Given the description of an element on the screen output the (x, y) to click on. 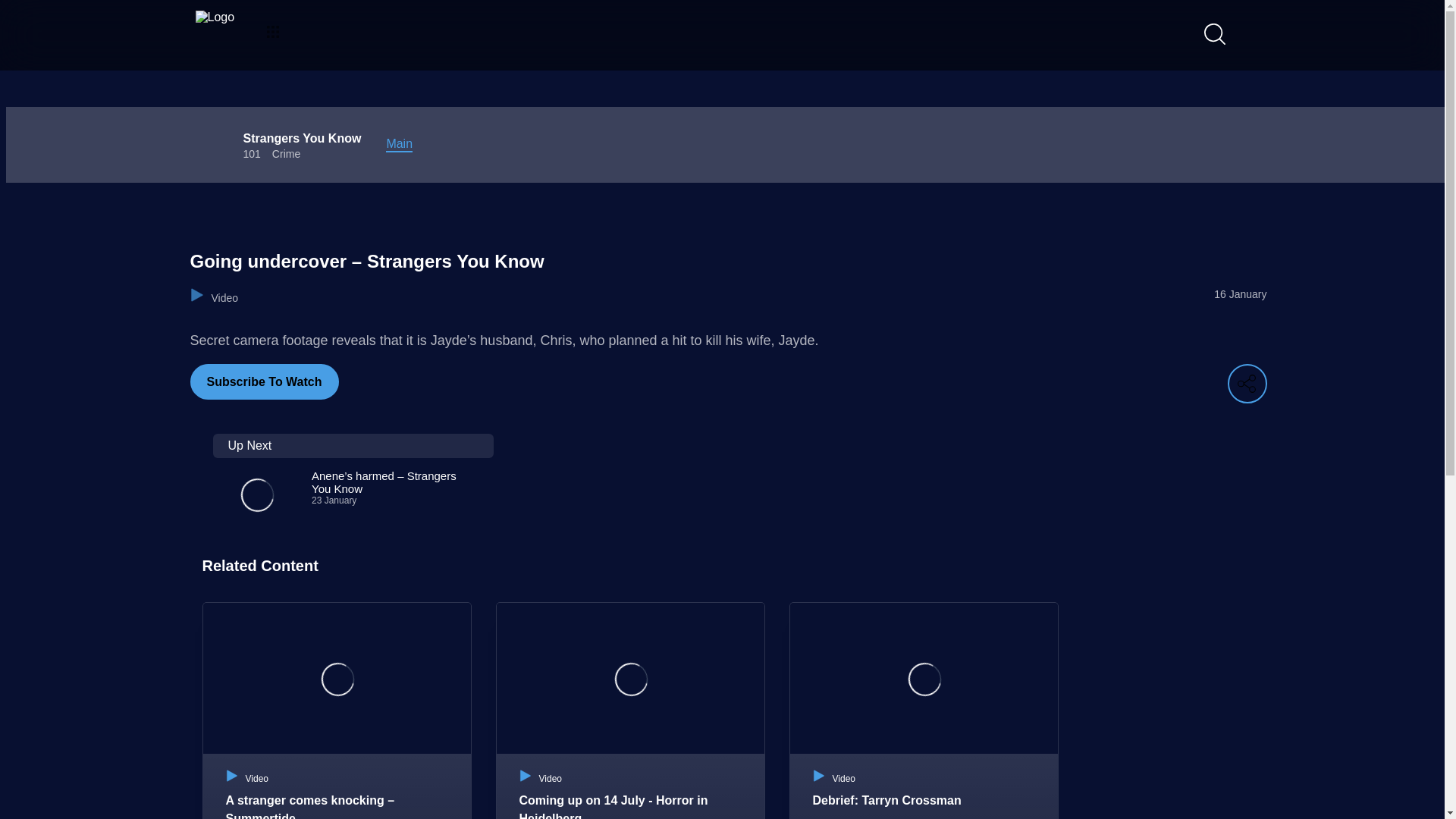
Subscribe To Watch (263, 381)
Main (398, 144)
